Given the description of an element on the screen output the (x, y) to click on. 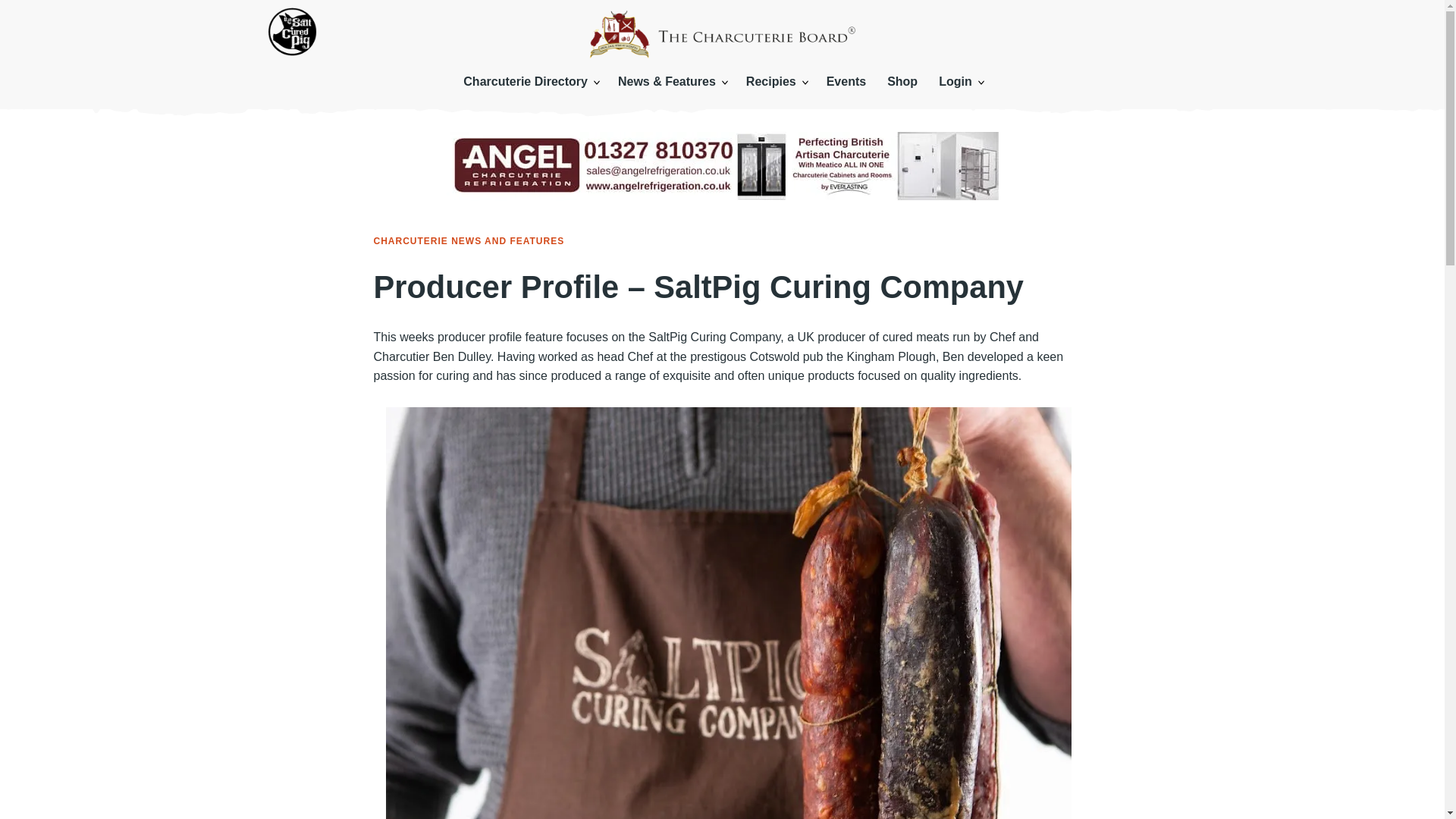
The Charcuterie Board (722, 33)
Login (959, 81)
Charcuterie Directory (529, 81)
Events (845, 81)
CHARCUTERIE NEWS AND FEATURES (468, 240)
Shop (902, 81)
Recipies (775, 81)
